Given the description of an element on the screen output the (x, y) to click on. 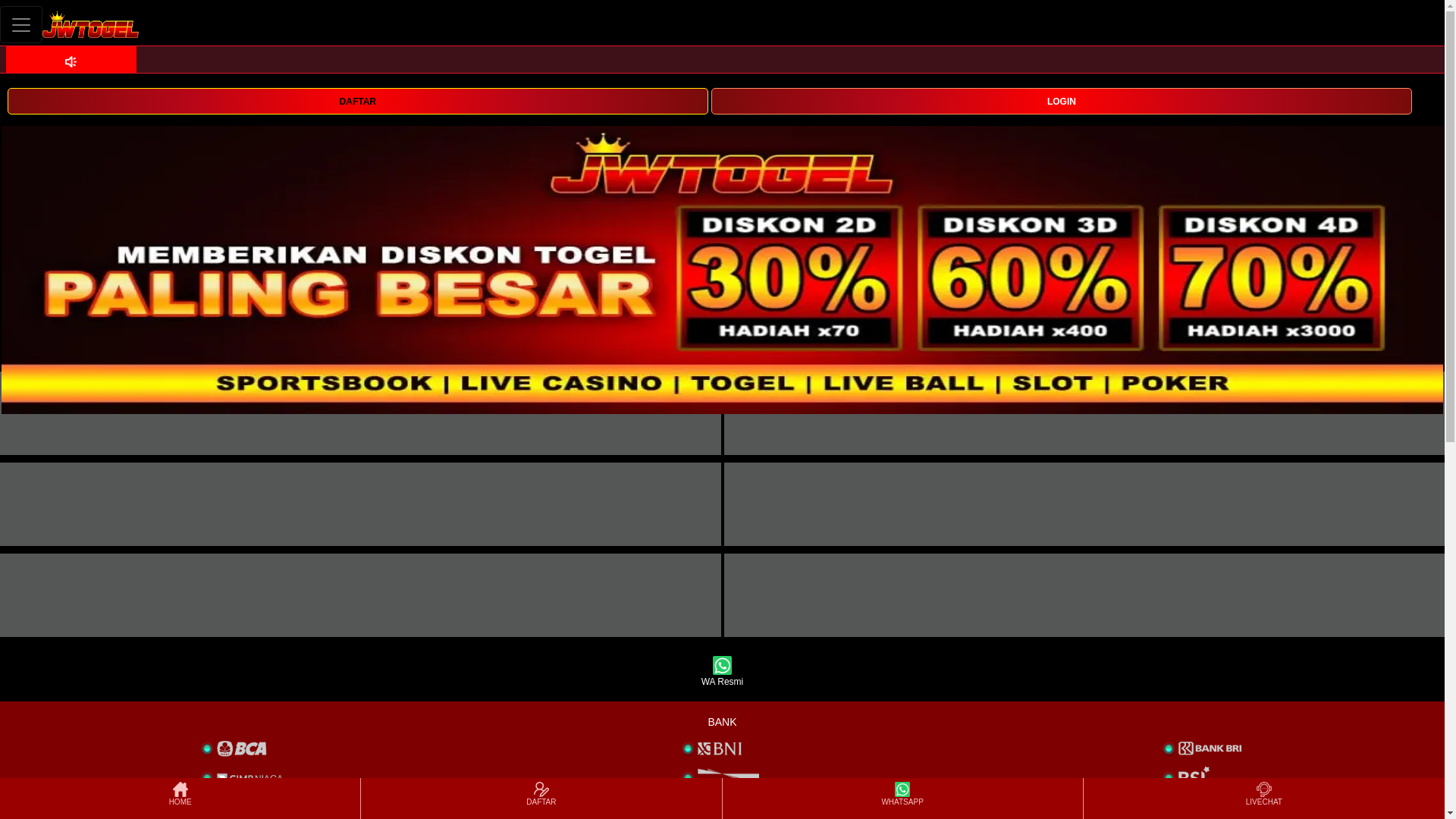
LOGIN (1061, 100)
LIVECHAT (1263, 798)
DAFTAR (540, 798)
DAFTAR (357, 100)
WA Resmi (722, 672)
WHATSAPP (901, 798)
DAFTAR (357, 100)
HOME (179, 798)
LOGIN (1061, 100)
